Given the description of an element on the screen output the (x, y) to click on. 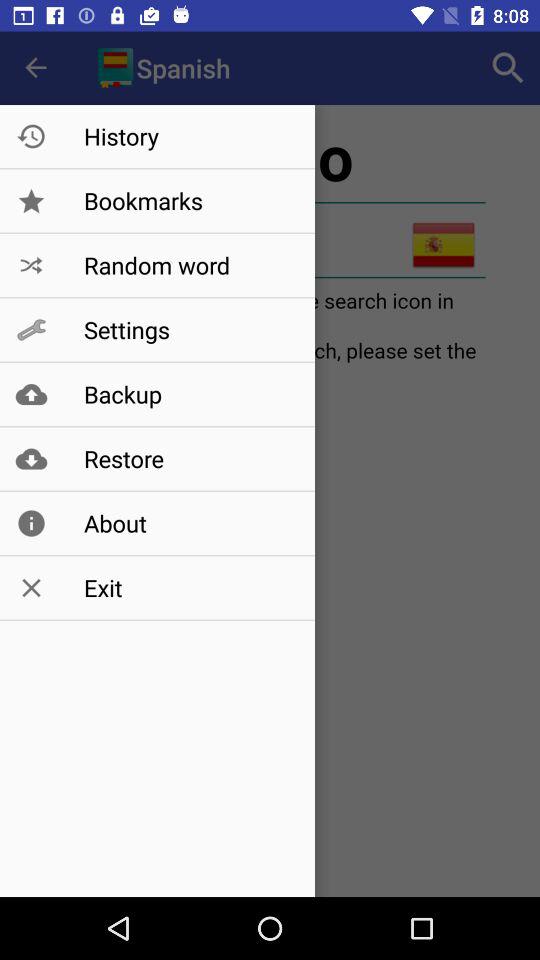
turn off the backup item (188, 394)
